Given the description of an element on the screen output the (x, y) to click on. 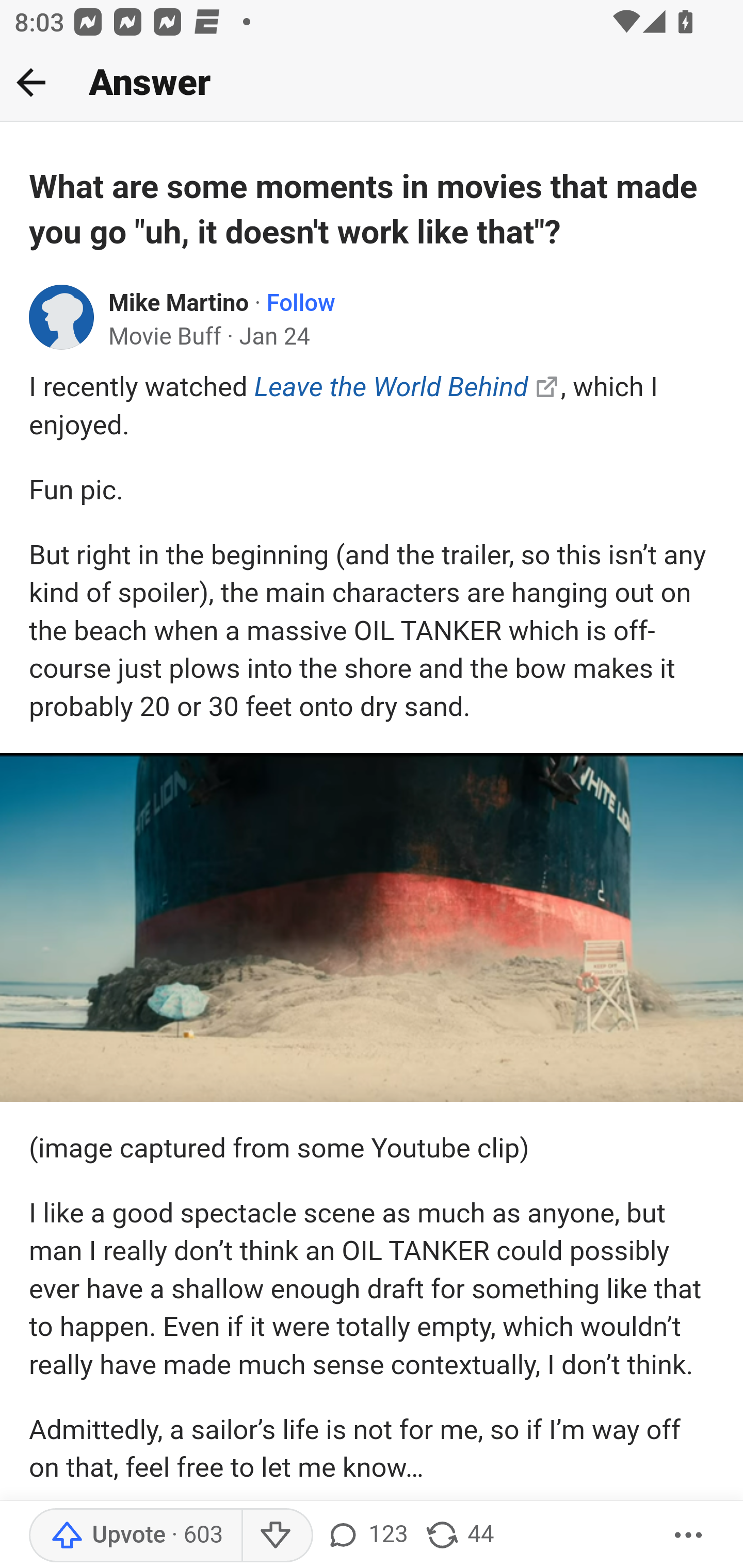
Back Answer (371, 82)
Back (30, 82)
Profile photo for Mike Martino (61, 317)
Mike Martino (178, 303)
Follow (300, 303)
Jan 24 (274, 336)
Leave the World Behind (390, 386)
main-qimg-001ef7411e159c8fb8d1f6ce5236ada6 (371, 927)
Upvote (135, 1535)
Downvote (277, 1535)
123 comments (366, 1535)
44 shares (459, 1535)
More (688, 1535)
